Given the description of an element on the screen output the (x, y) to click on. 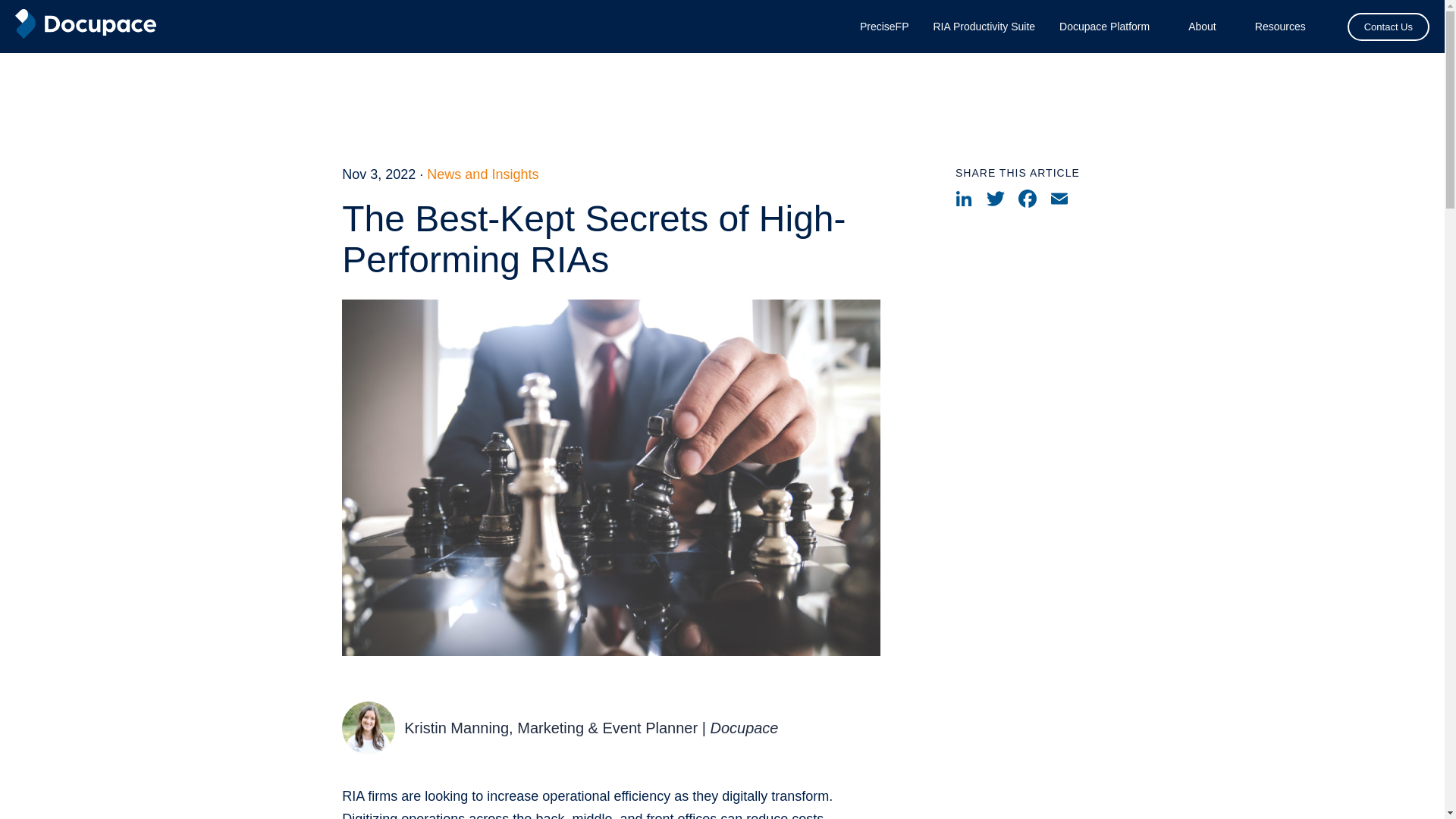
PreciseFP (884, 26)
Resources (1280, 26)
About (1201, 26)
Docupace Platform (1104, 26)
RIA Productivity Suite (984, 26)
